Given the description of an element on the screen output the (x, y) to click on. 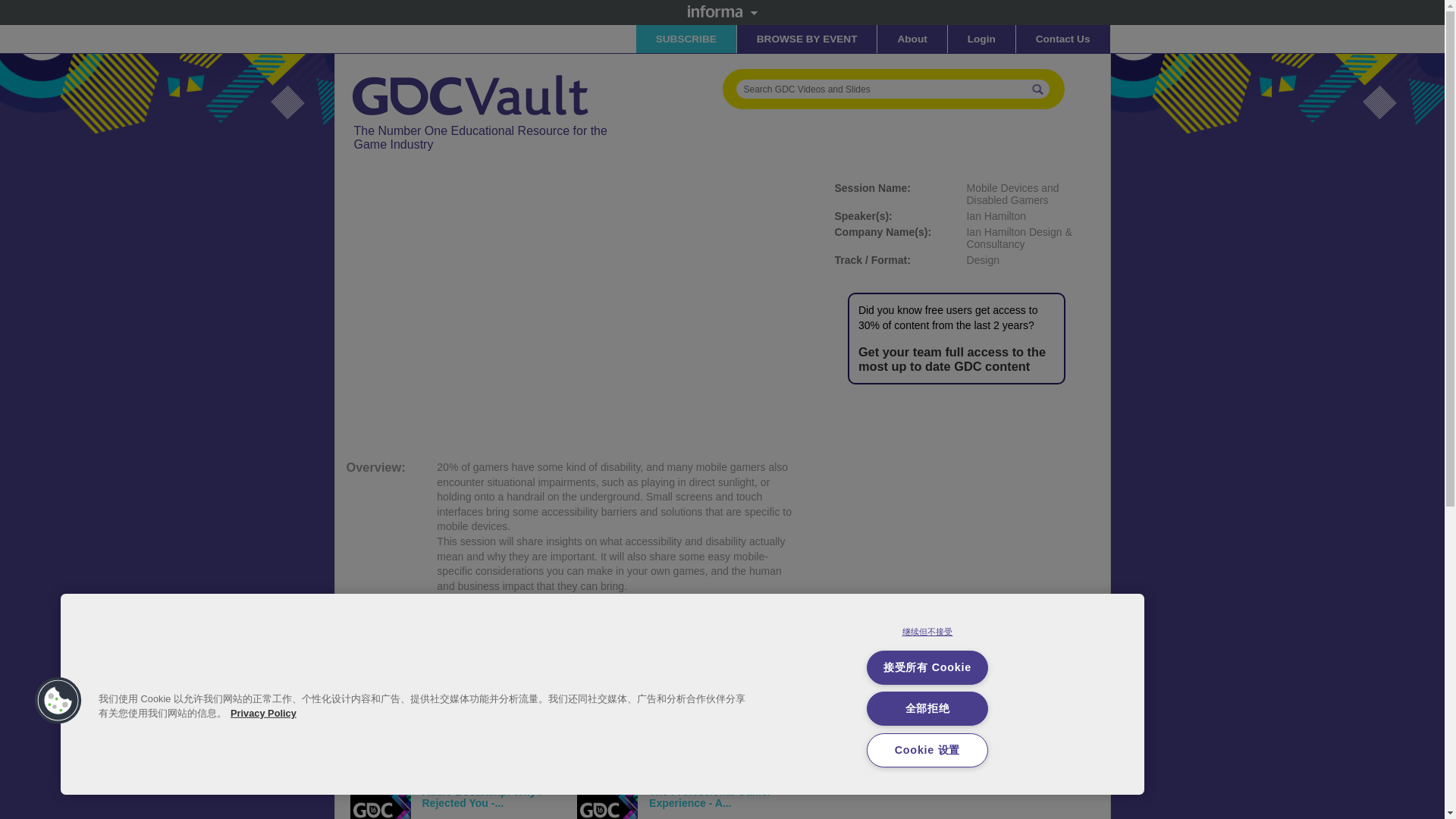
Darkest Dungeon: A Design Postmortem (491, 744)
How We Won GameDev by Rolling Our Own Tech (716, 744)
Cookies Button (57, 700)
The Professional Gamer Experience - A... (710, 797)
Get your team full access to the most up to date GDC content (952, 358)
BROWSE BY EVENT (806, 39)
SUBSCRIBE (686, 39)
Audio Bootcamp: Why I Rejected You -... (481, 797)
Contact Us (1062, 39)
About (911, 39)
